Given the description of an element on the screen output the (x, y) to click on. 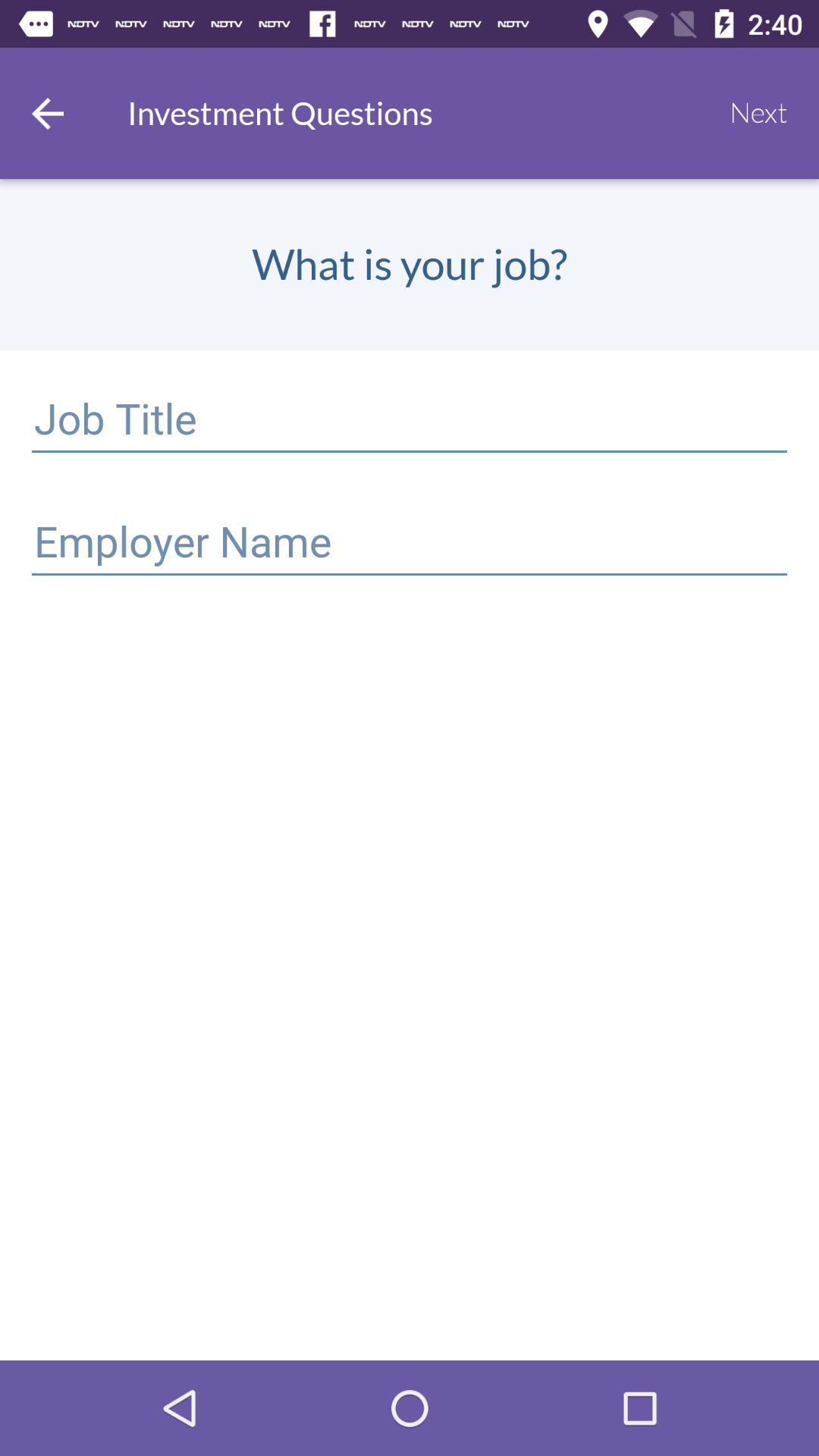
open the next item (758, 113)
